Given the description of an element on the screen output the (x, y) to click on. 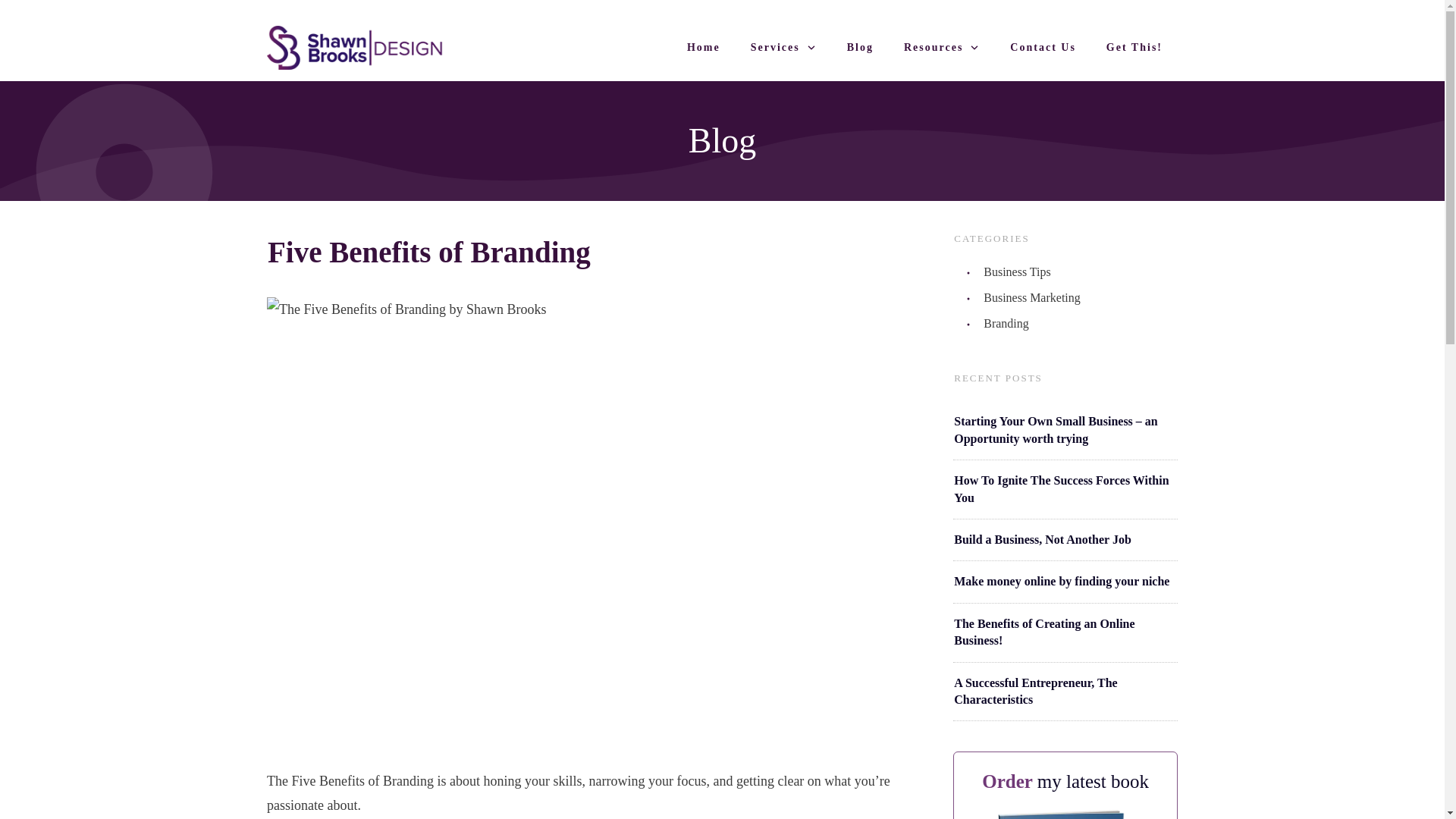
How To Ignite The Success Forces Within You (1061, 488)
Business Tips (1017, 271)
Its all about you (1064, 814)
Build a Business, Not Another Job (1042, 539)
Business Marketing (1032, 298)
How To Ignite The Success Forces Within You (1061, 488)
Services (783, 47)
Contact Us (1042, 47)
Home (703, 47)
Make money online by finding your niche (1061, 581)
